Given the description of an element on the screen output the (x, y) to click on. 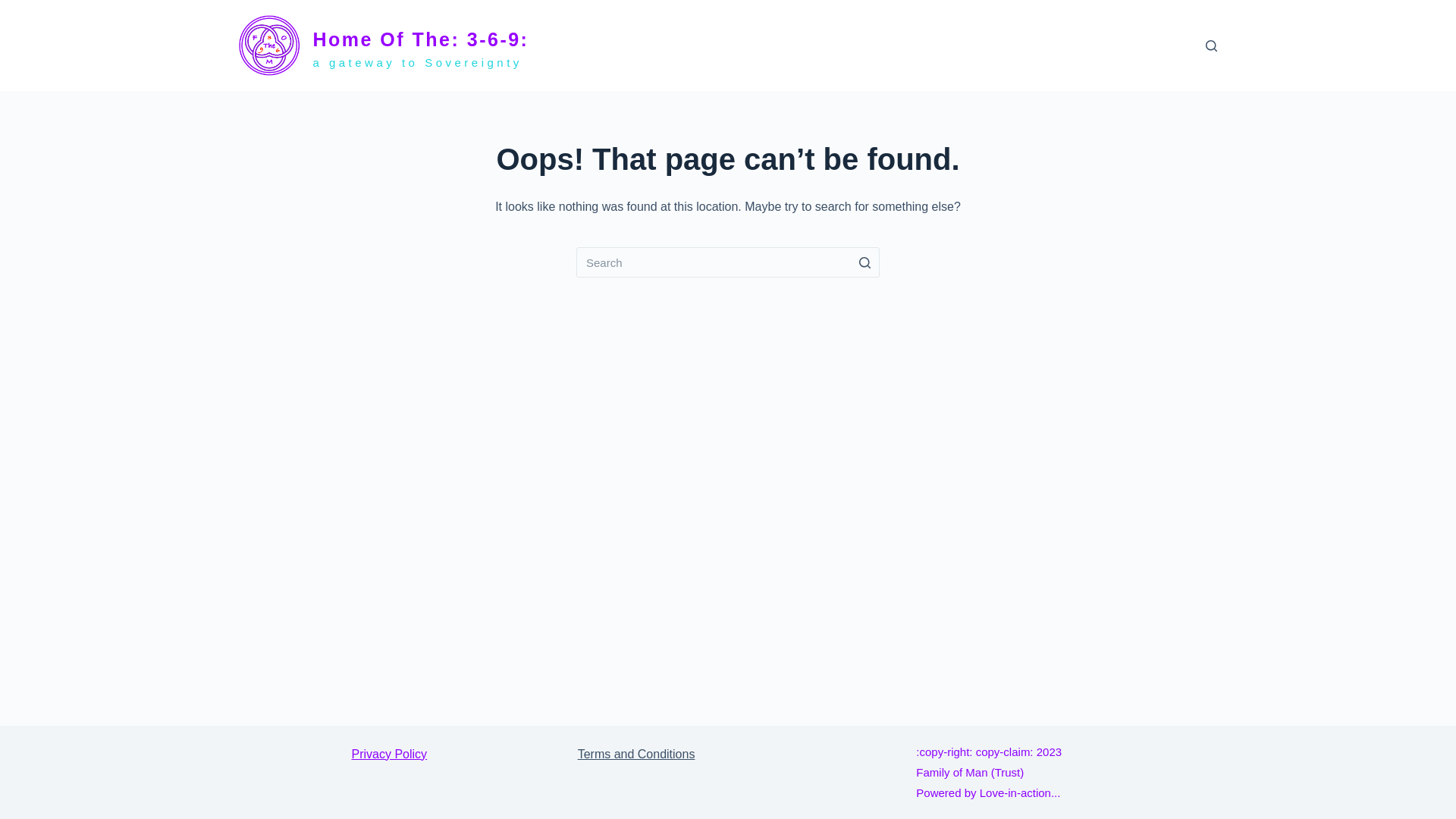
Terms and Conditions Element type: text (636, 753)
ABOUT Element type: text (1096, 45)
FAMILY OF MAN TRUST Element type: text (1003, 45)
THE: 3-6-9: Element type: text (903, 45)
CONTACT US Element type: text (1156, 45)
Search Input Element type: hover (727, 262)
HOME Element type: text (852, 45)
Home Of The: 3-6-9: Element type: text (420, 39)
Skip to content Element type: text (15, 7)
Privacy Policy Element type: text (389, 753)
